Given the description of an element on the screen output the (x, y) to click on. 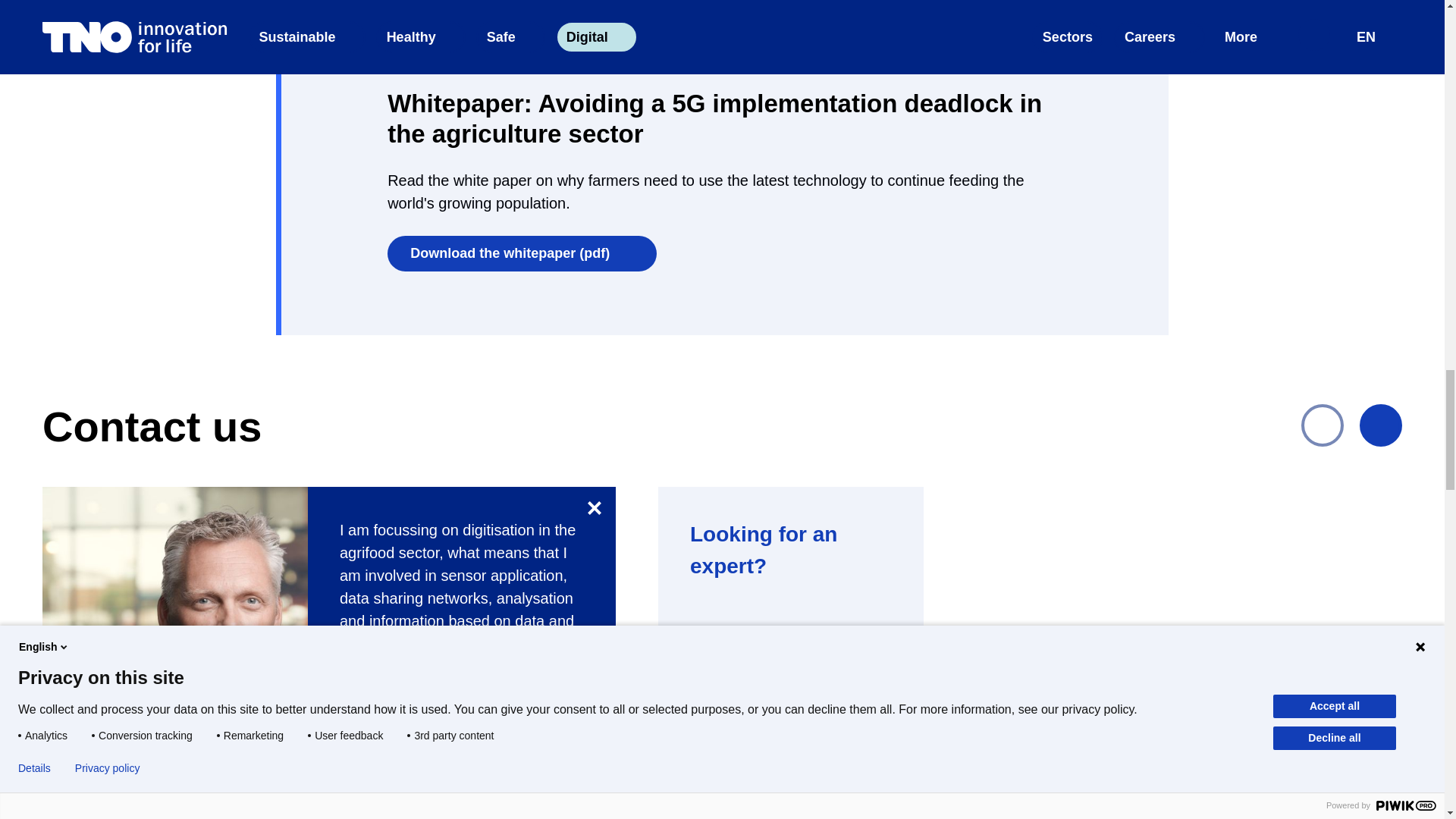
Groningen (387, 796)
More about Evert (407, 681)
